Given the description of an element on the screen output the (x, y) to click on. 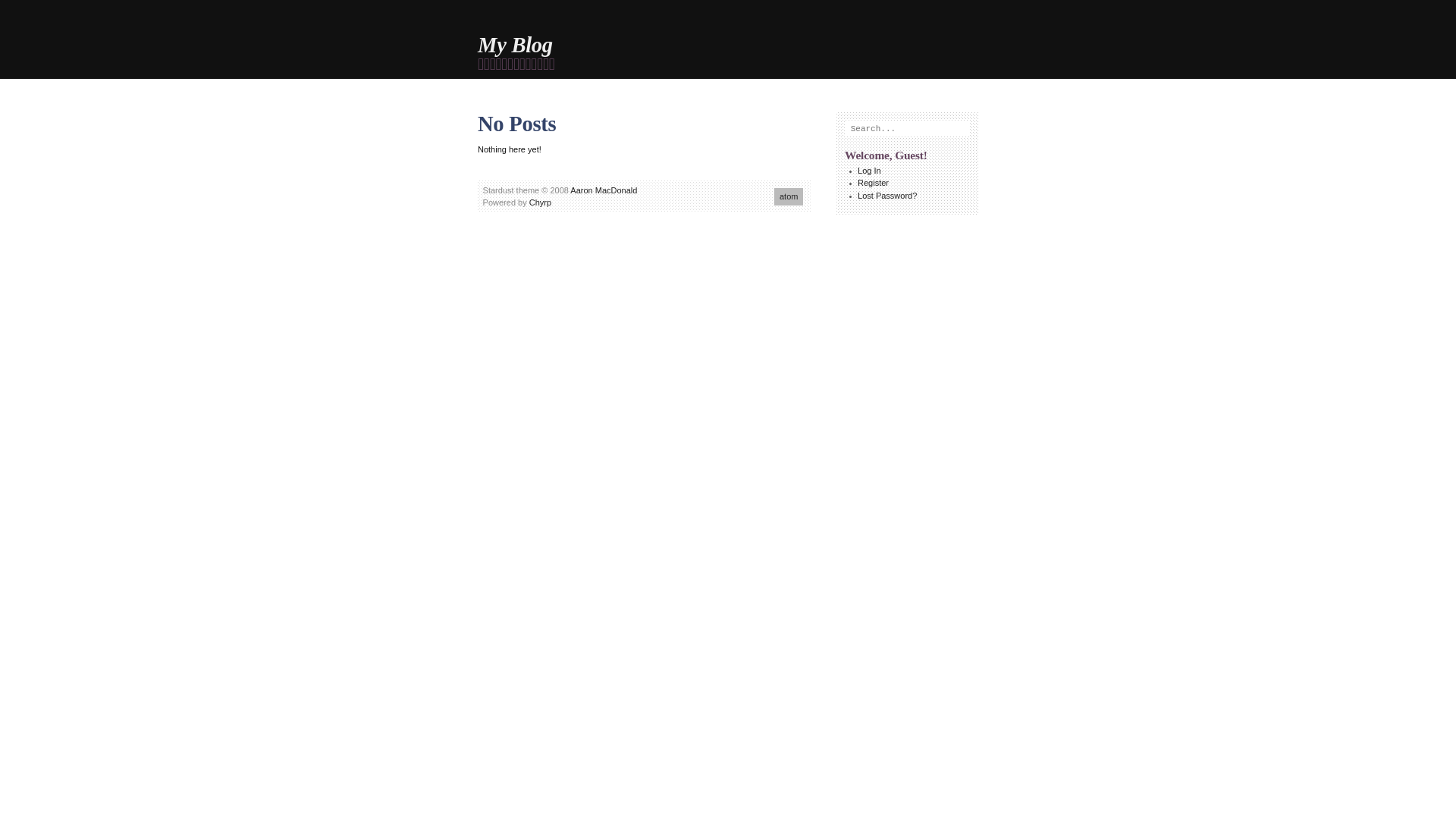
Register Element type: text (873, 182)
Aaron MacDonald Element type: text (603, 189)
Log In Element type: text (869, 170)
Chyrp Element type: text (540, 202)
My Blog Element type: text (514, 44)
atom Element type: text (788, 196)
Lost Password? Element type: text (887, 195)
